Given the description of an element on the screen output the (x, y) to click on. 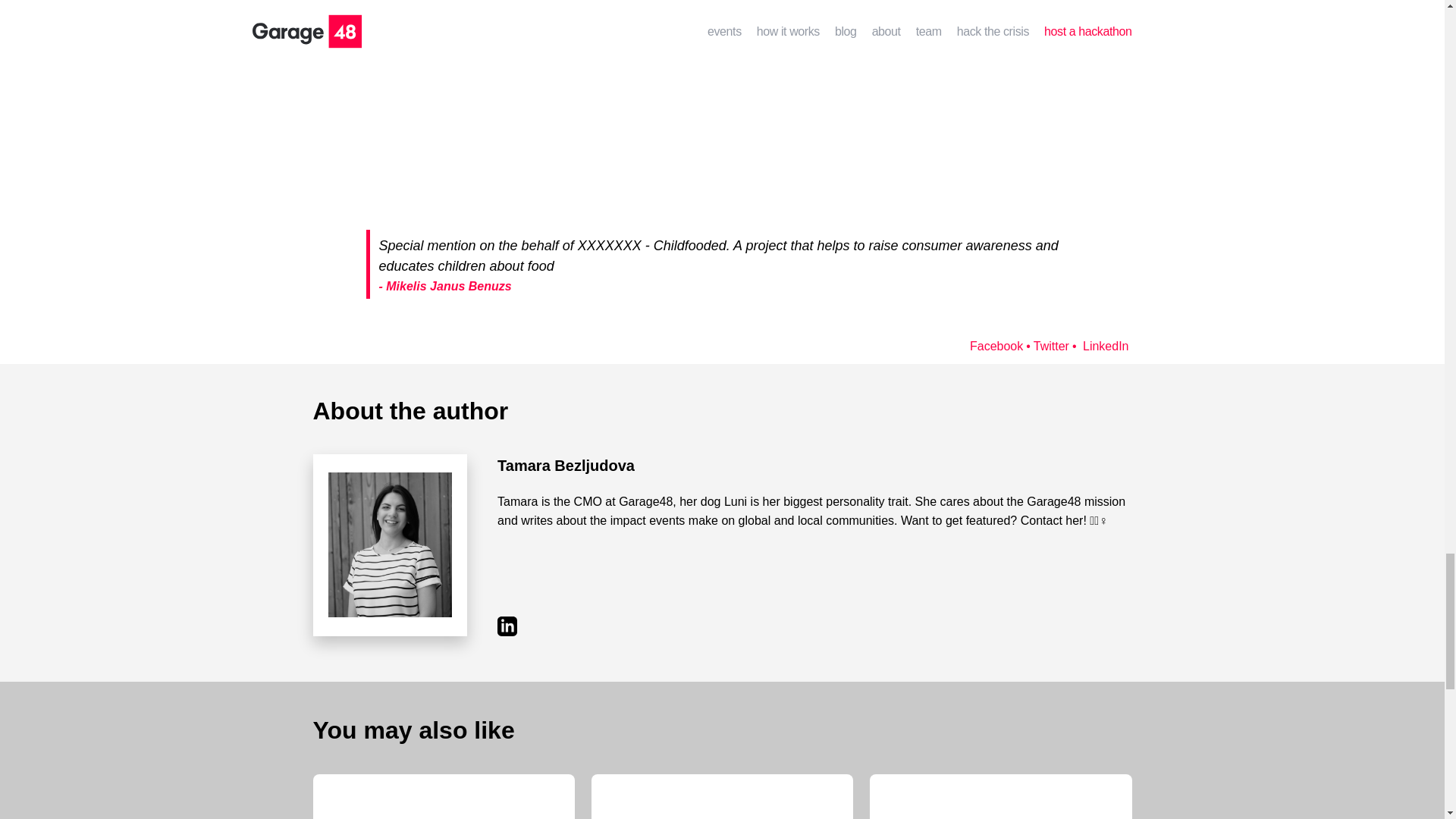
Twitter (1048, 346)
Facebook (996, 346)
LinkedIn (1101, 346)
